Given the description of an element on the screen output the (x, y) to click on. 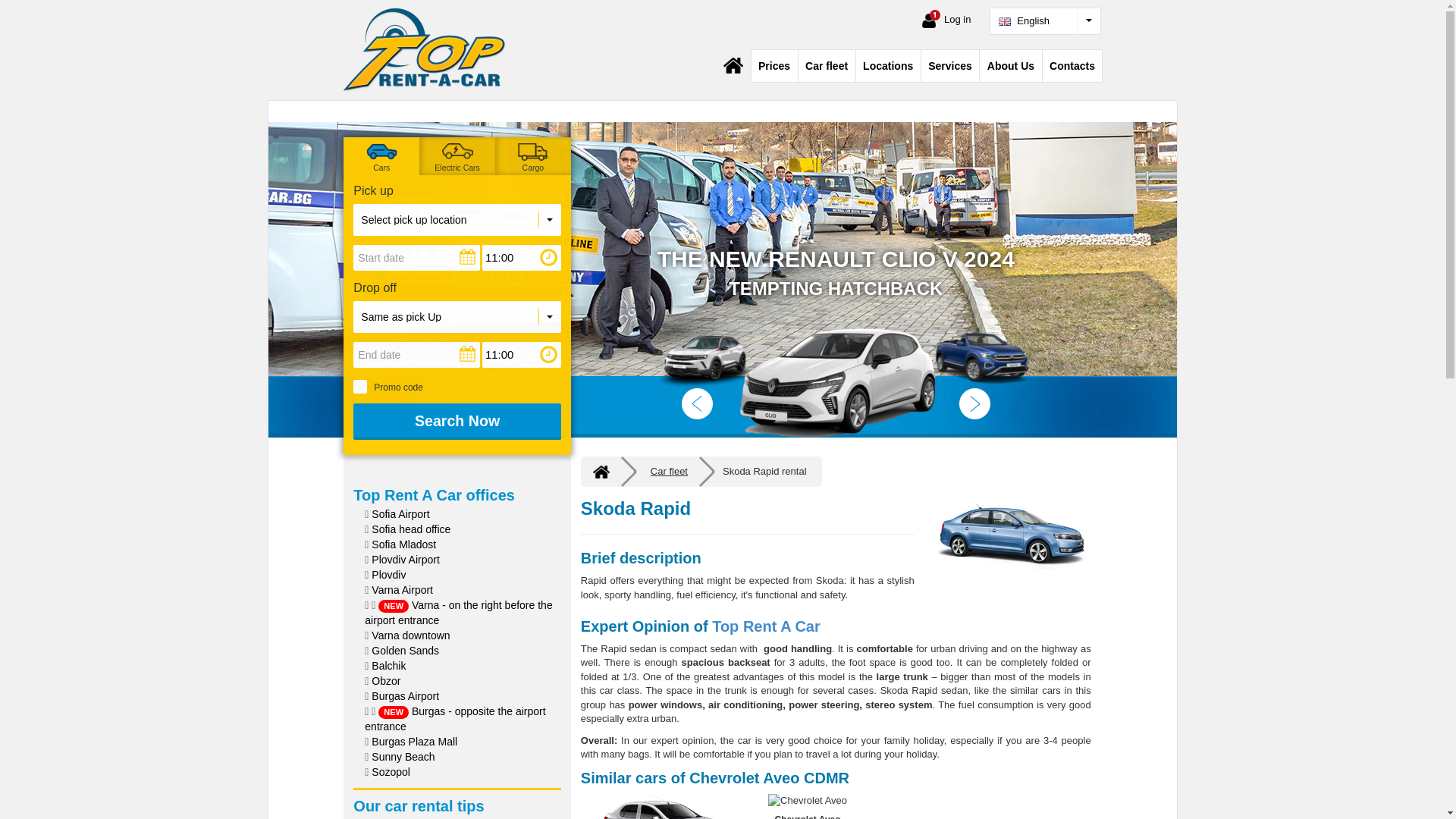
Home (424, 50)
Car fleet (826, 65)
Log in (946, 19)
Prices (774, 65)
Home (733, 65)
